Given the description of an element on the screen output the (x, y) to click on. 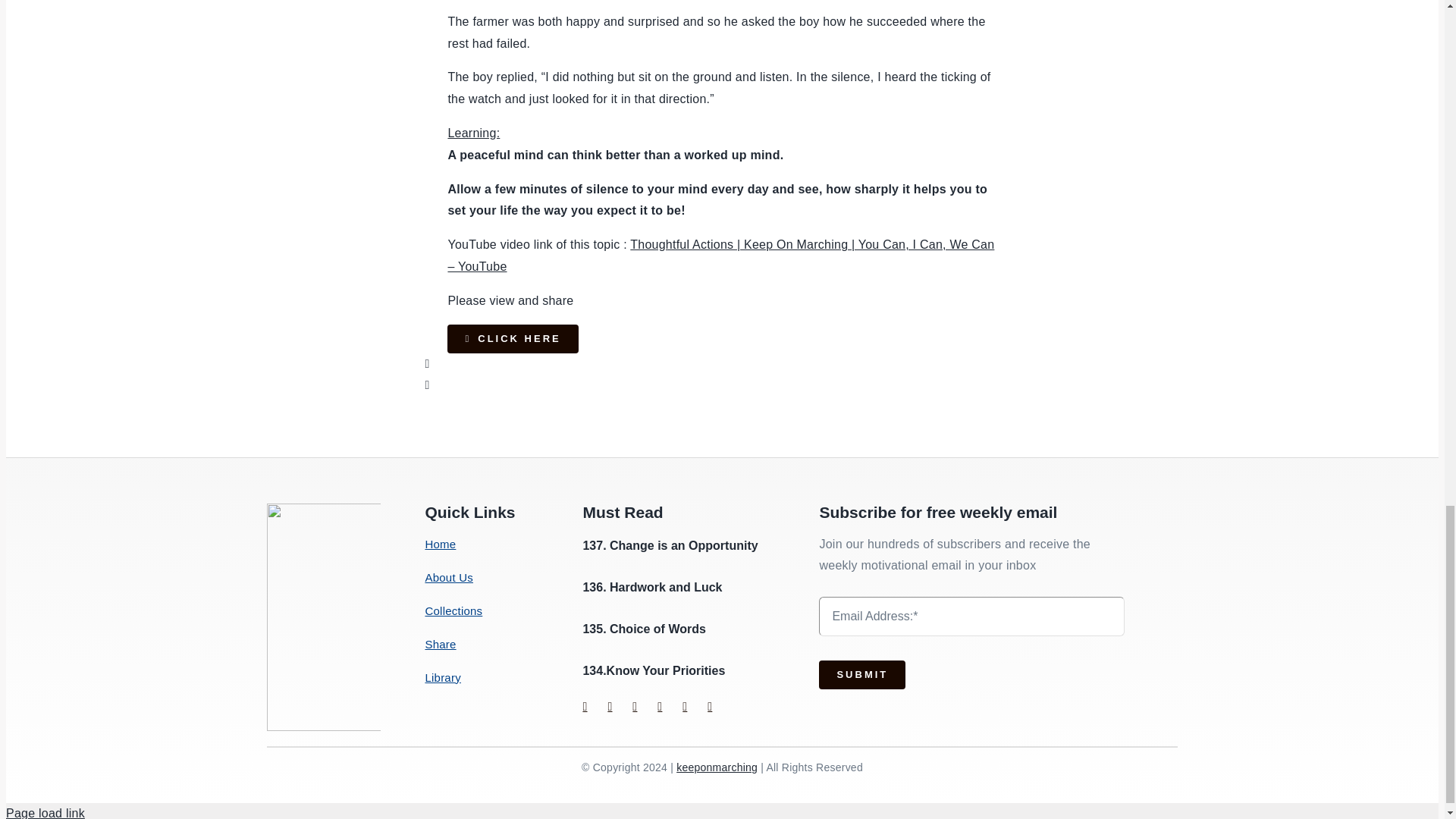
135. Choice of Words (643, 628)
Like (427, 363)
Library (485, 677)
136. Hardwork and Luck (652, 586)
Share (485, 643)
137. Change is an Opportunity (669, 545)
Home (485, 543)
SUBMIT (957, 650)
CLICK HERE (512, 338)
134.Know Your Priorities (653, 670)
SUBMIT (861, 674)
Collections (485, 610)
About Us (485, 577)
Dislike (427, 384)
